Given the description of an element on the screen output the (x, y) to click on. 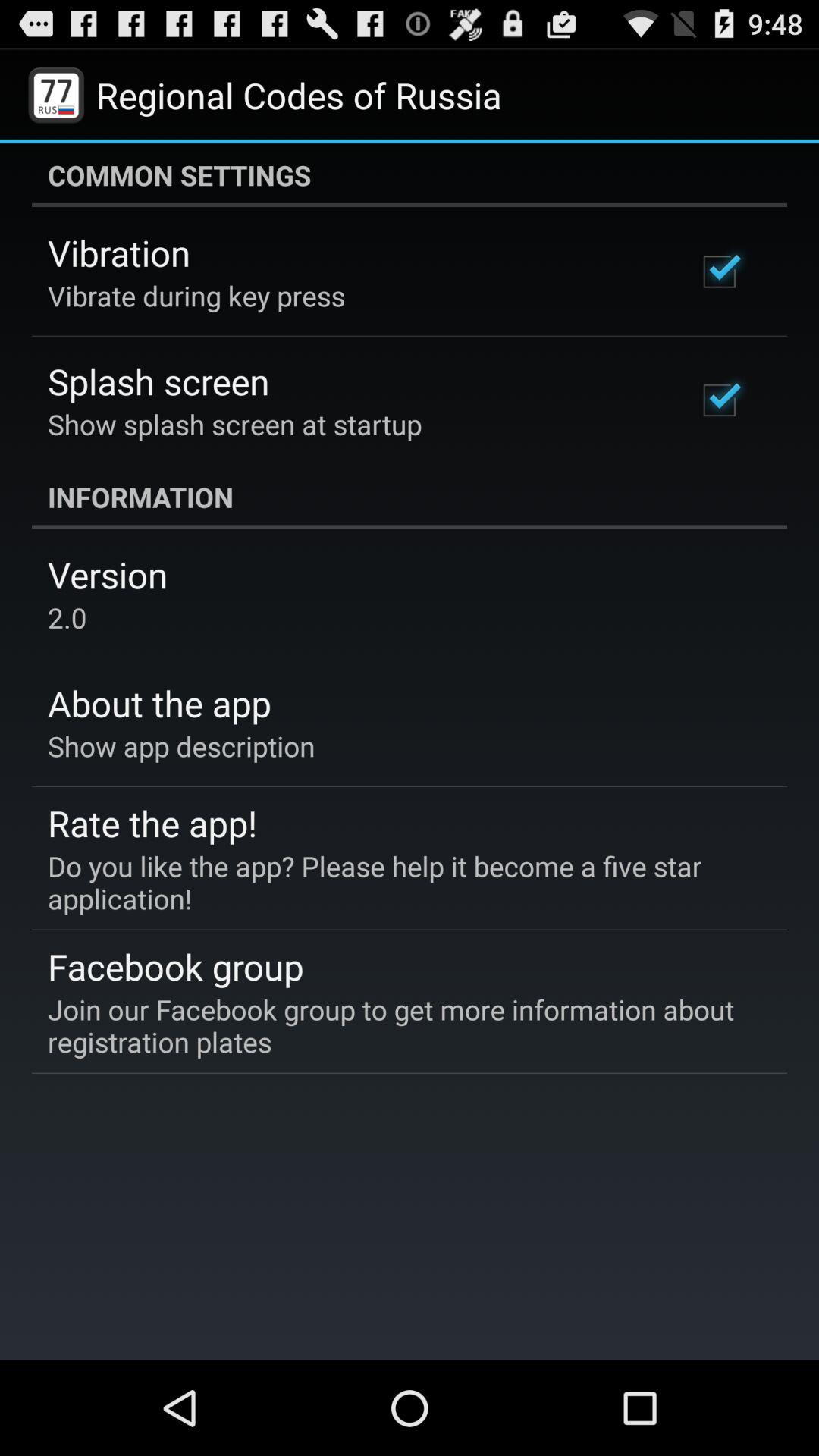
select the icon above the about the app icon (67, 617)
